Given the description of an element on the screen output the (x, y) to click on. 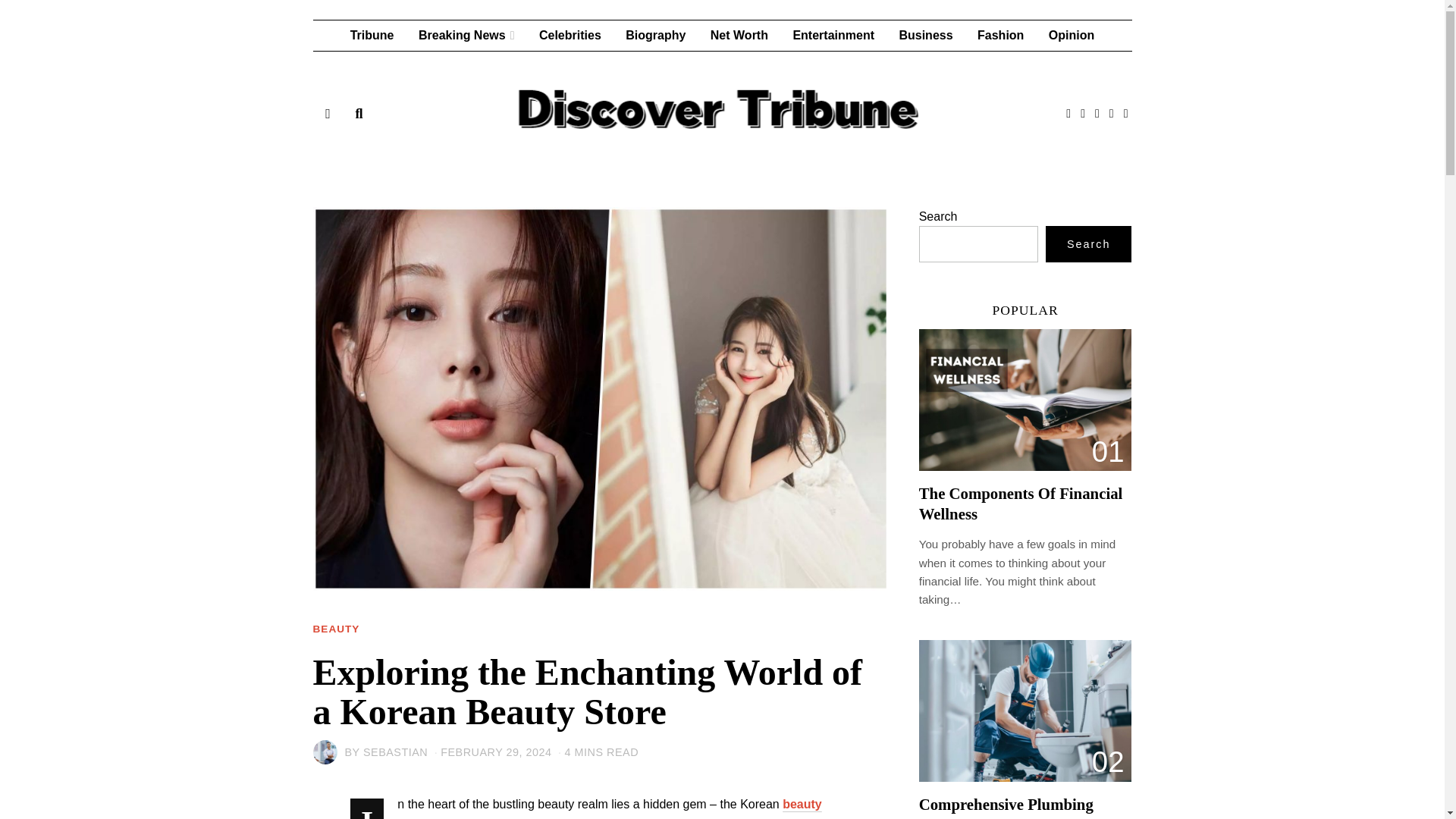
Net Worth (739, 35)
Tribune (371, 35)
Search (1088, 244)
01 (1025, 399)
beauty store (609, 808)
Entertainment (833, 35)
The Components Of Financial Wellness (1020, 503)
Opinion (1071, 35)
SEBASTIAN (395, 752)
Fashion (999, 35)
Biography (654, 35)
Celebrities (569, 35)
02 (1025, 710)
Breaking News (466, 35)
BEAUTY (336, 629)
